Given the description of an element on the screen output the (x, y) to click on. 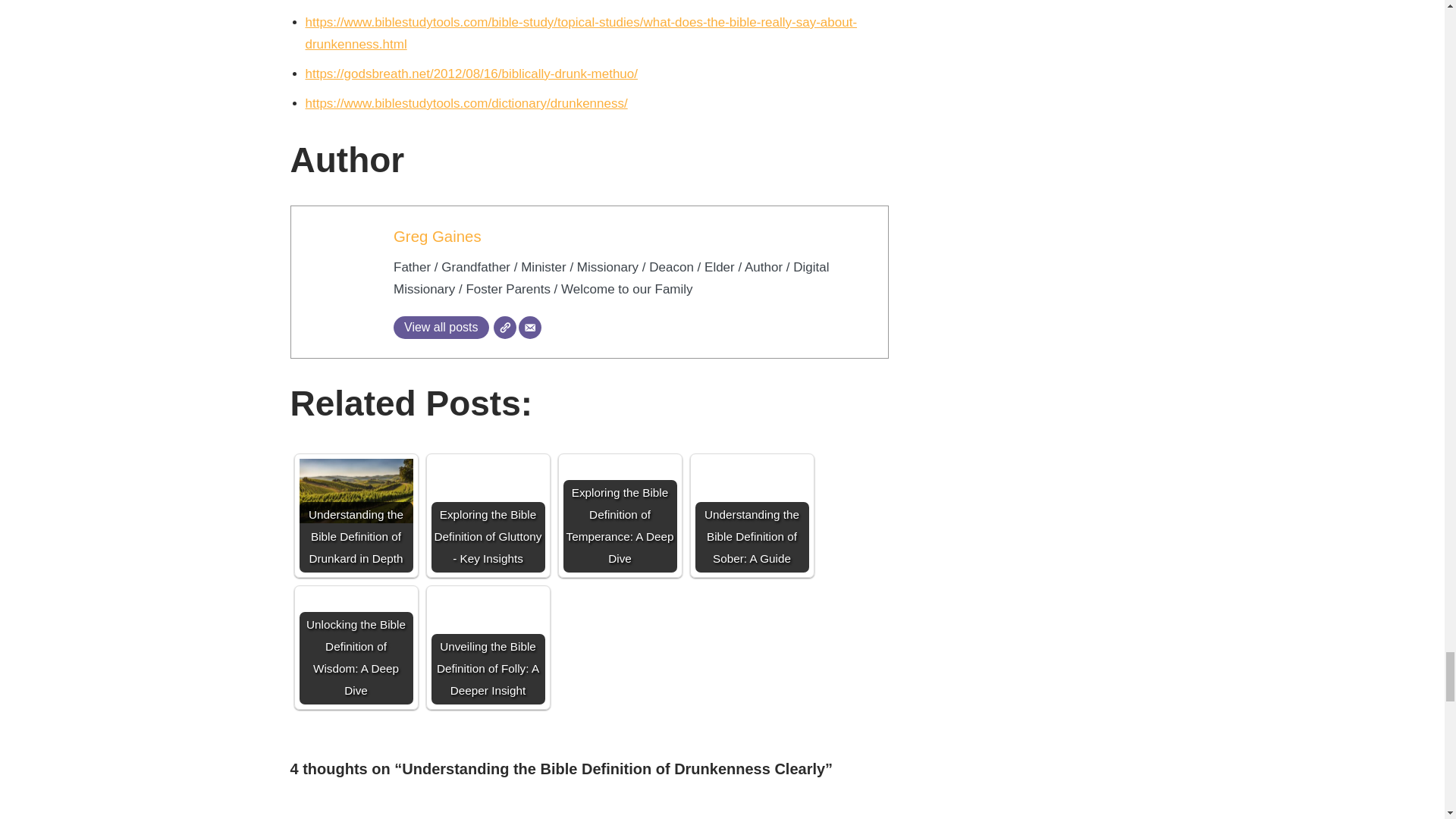
Exploring the Bible Definition of Gluttony - Key Insights (487, 491)
Greg Gaines (437, 236)
Understanding the Bible Definition of Sober: A Guide (751, 515)
Unlocking the Bible Definition of Wisdom: A Deep Dive (355, 623)
Greg Gaines (437, 236)
View all posts (441, 327)
Understanding the Bible Definition of Drunkard in Depth (355, 491)
Unlocking the Bible Definition of Wisdom: A Deep Dive (355, 647)
Unveiling the Bible Definition of Folly: A Deeper Insight (487, 623)
Exploring the Bible Definition of Gluttony - Key Insights (487, 515)
